Given the description of an element on the screen output the (x, y) to click on. 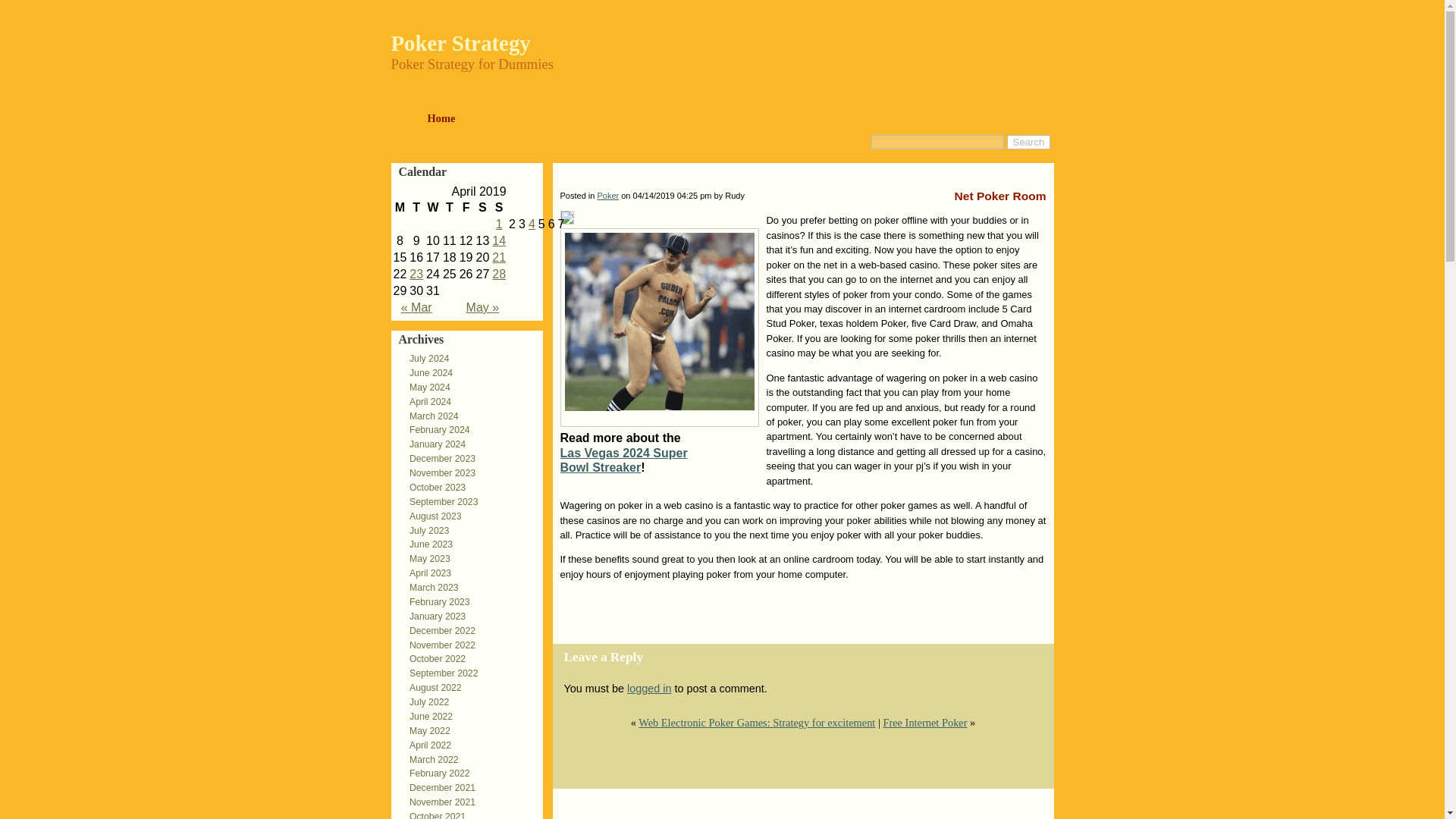
Free Internet Poker (498, 256)
May 2022 (424, 730)
Tuesday (416, 207)
March 2023 (429, 587)
Search (1028, 142)
July 2024 (424, 357)
May 2024 (424, 387)
Home (441, 119)
October 2022 (432, 658)
Search (1028, 142)
February 2024 (435, 429)
September 2022 (439, 673)
Poker Strategy (461, 43)
December 2023 (438, 458)
View posts for May 2019 (482, 307)
